Given the description of an element on the screen output the (x, y) to click on. 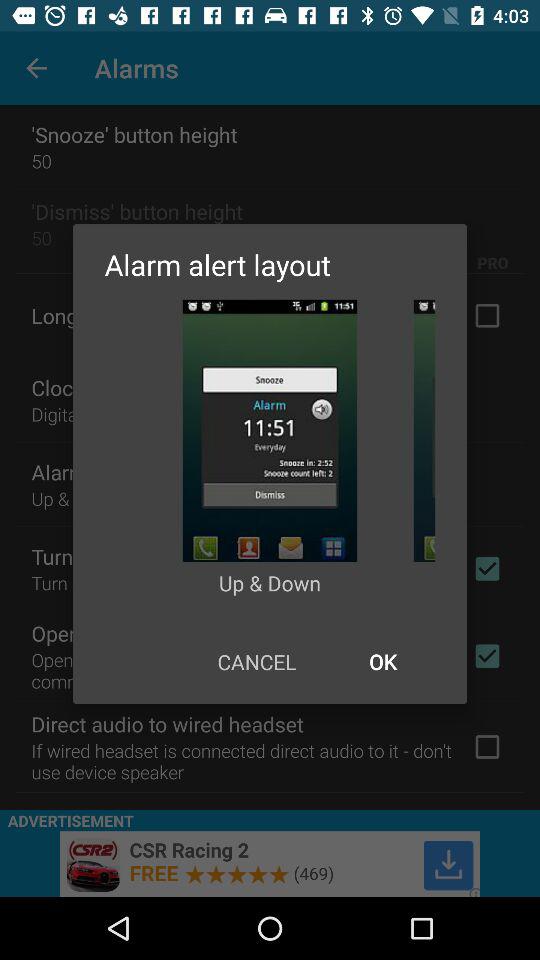
swipe to ok icon (382, 661)
